Given the description of an element on the screen output the (x, y) to click on. 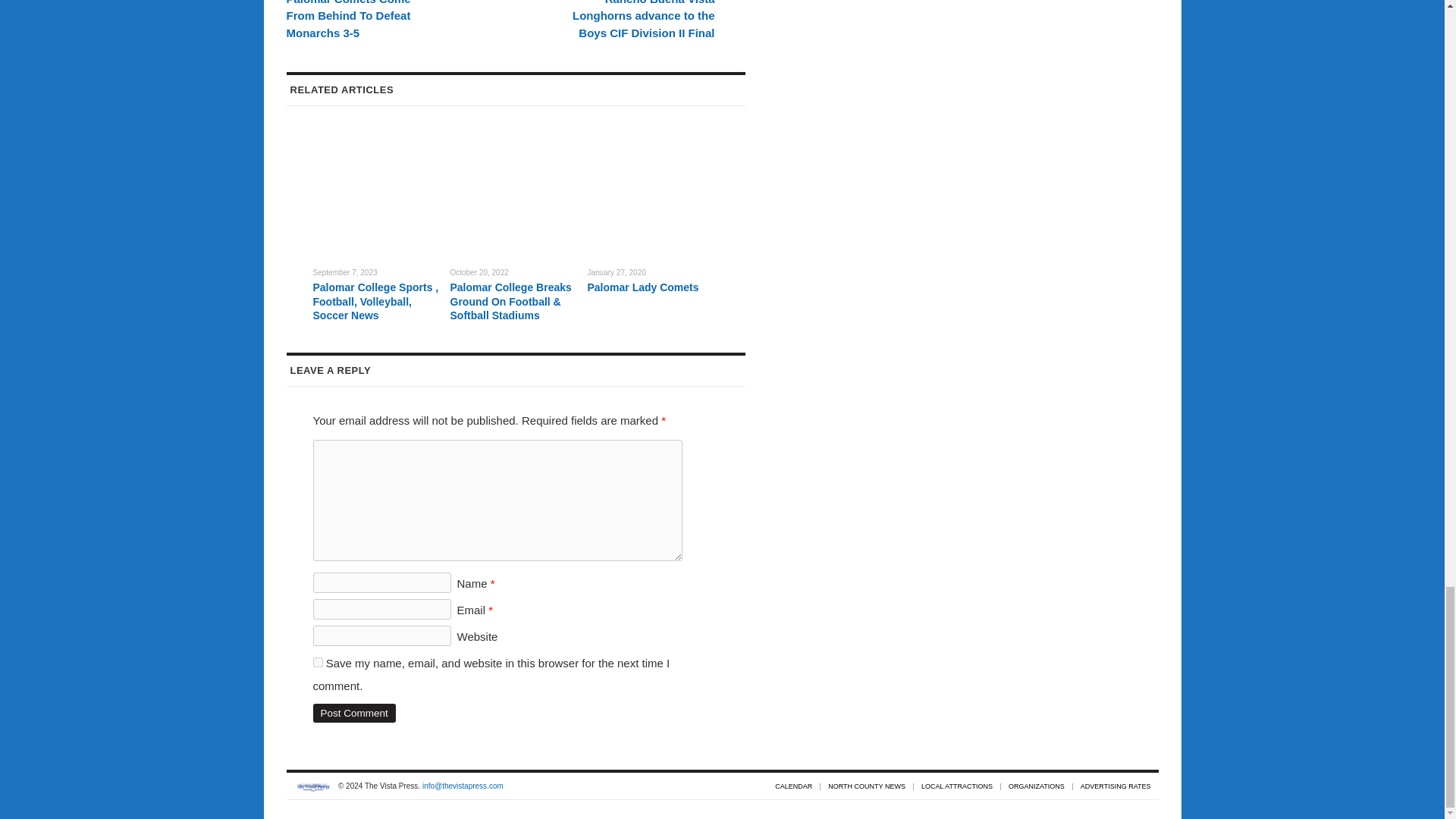
Post Comment (353, 712)
yes (317, 662)
